Given the description of an element on the screen output the (x, y) to click on. 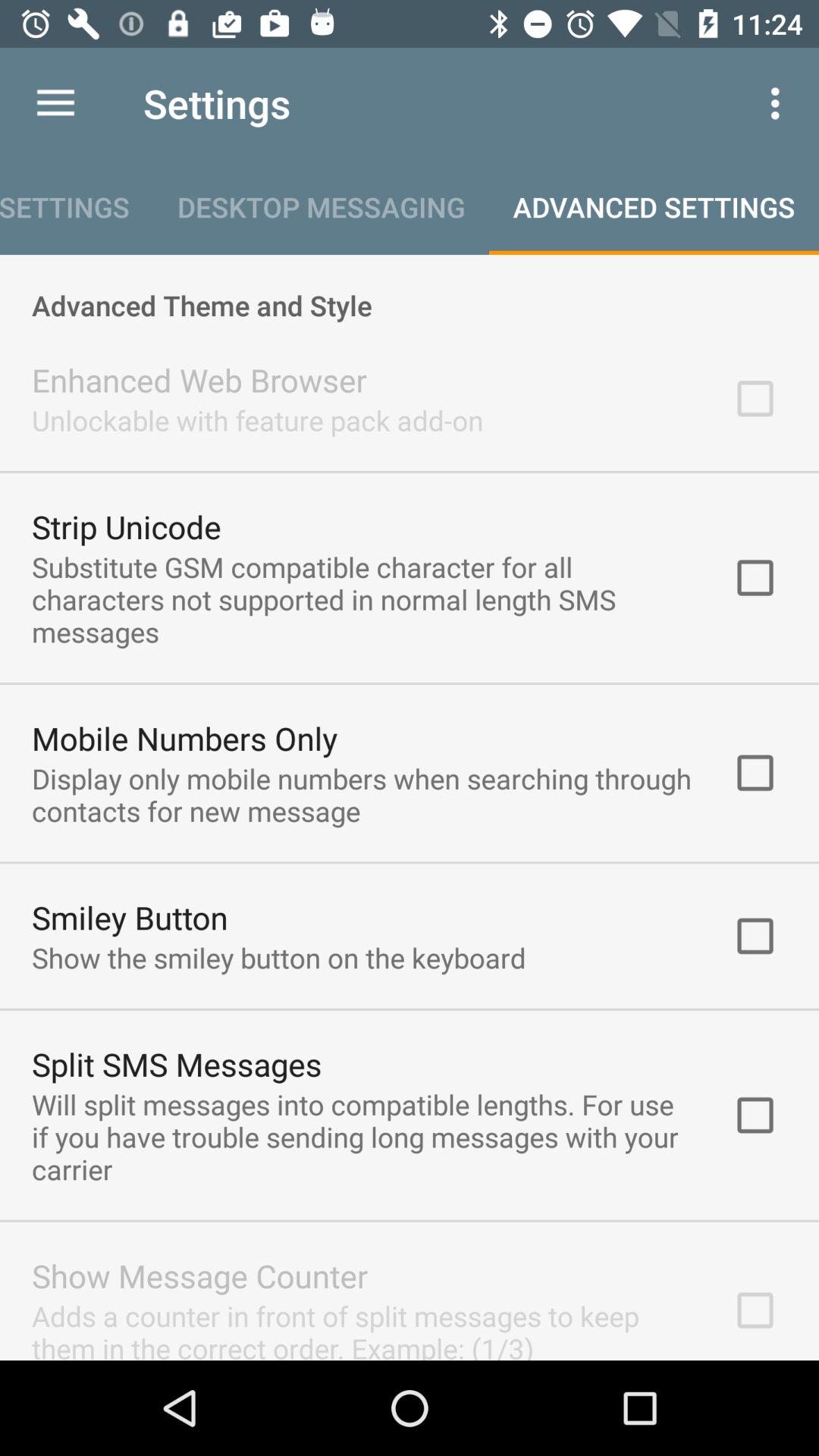
launch the item below the advanced theme and icon (198, 379)
